Given the description of an element on the screen output the (x, y) to click on. 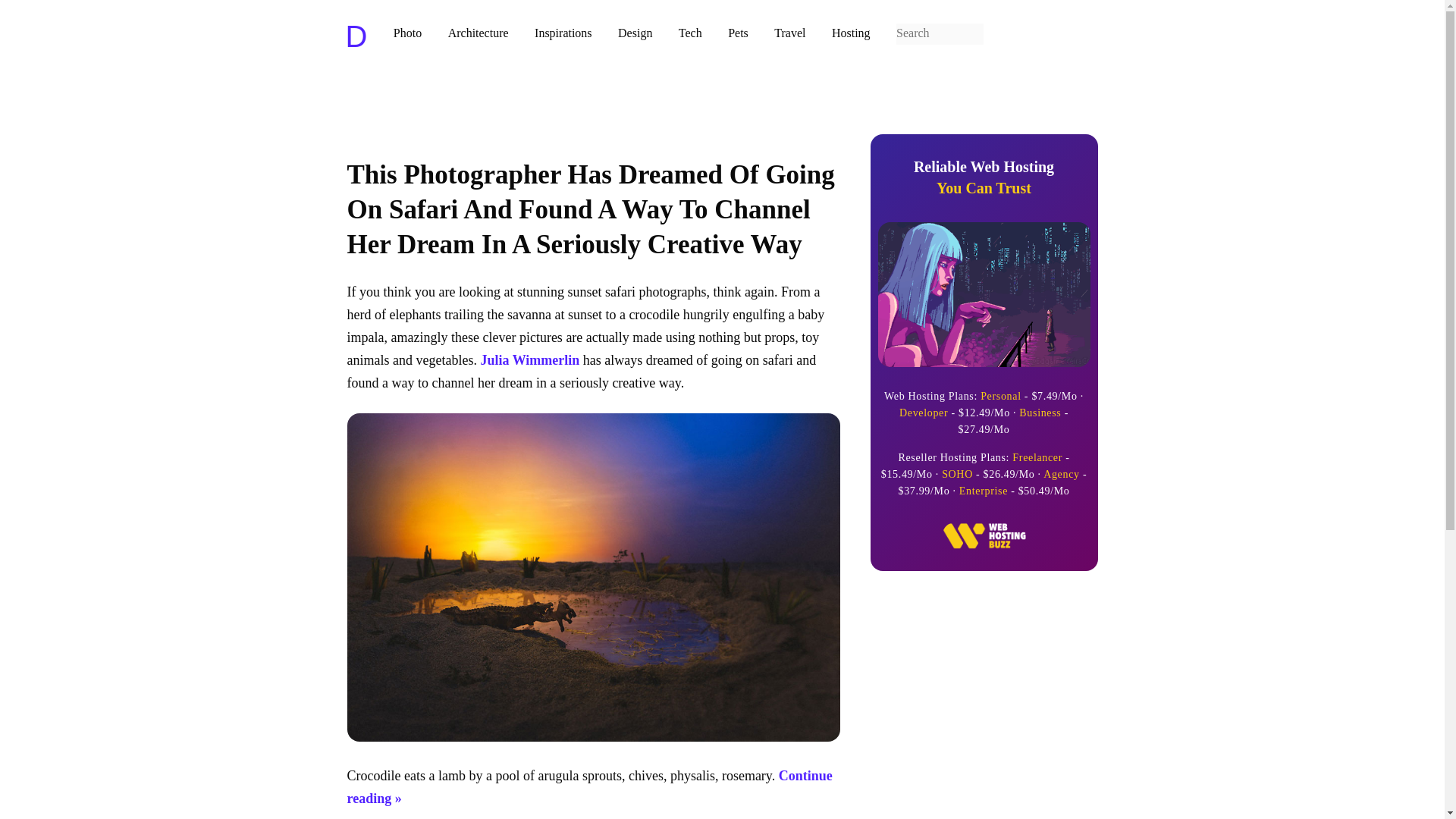
Julia Wimmerlin (529, 359)
Photo (407, 32)
Design (634, 32)
Hosting (850, 32)
Inspirations (984, 177)
Architecture (563, 32)
Pets (478, 32)
